Given the description of an element on the screen output the (x, y) to click on. 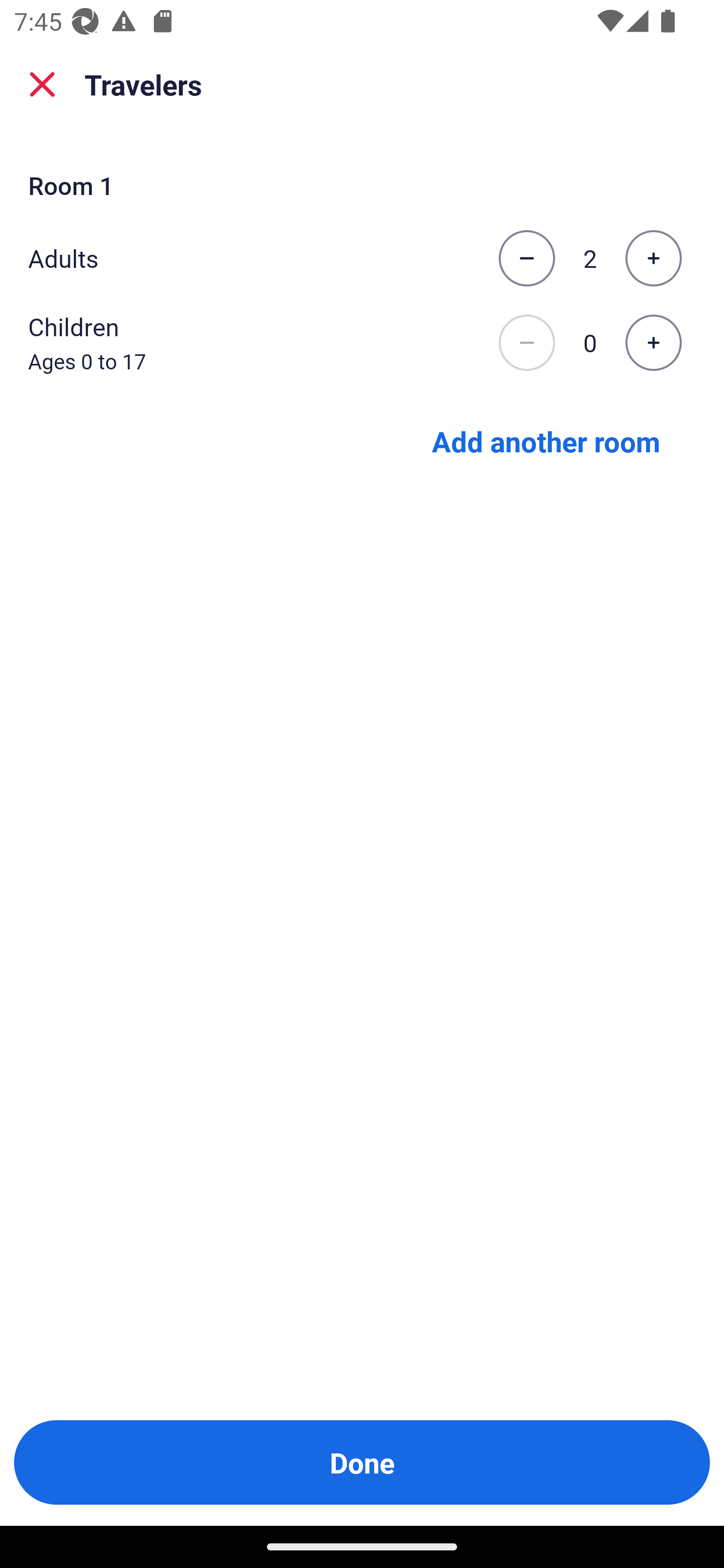
close (42, 84)
Decrease the number of adults (526, 258)
Increase the number of adults (653, 258)
Decrease the number of children (526, 343)
Increase the number of children (653, 343)
Add another room (545, 440)
Done (361, 1462)
